Given the description of an element on the screen output the (x, y) to click on. 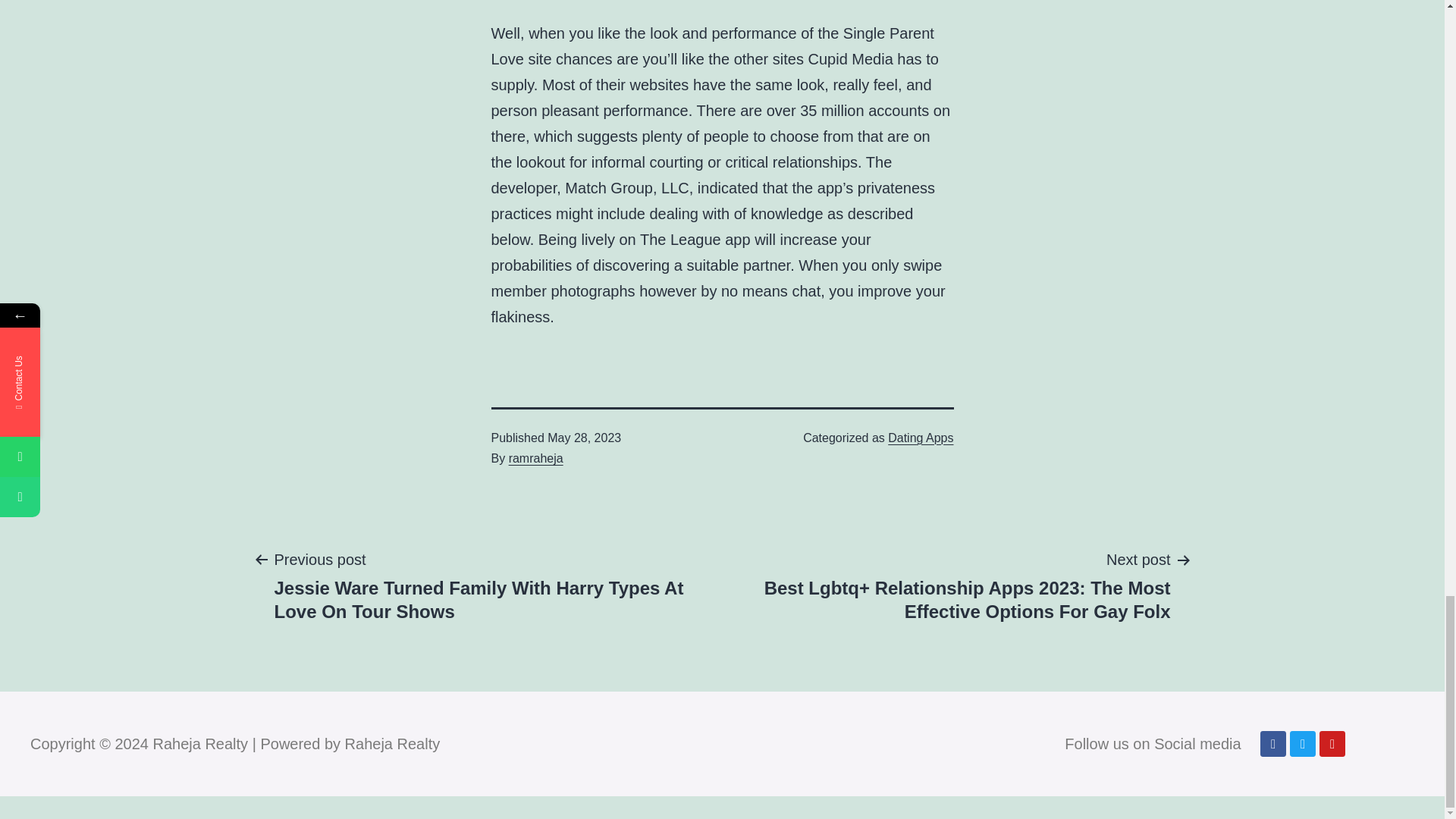
Dating Apps (920, 437)
ramraheja (535, 458)
